Given the description of an element on the screen output the (x, y) to click on. 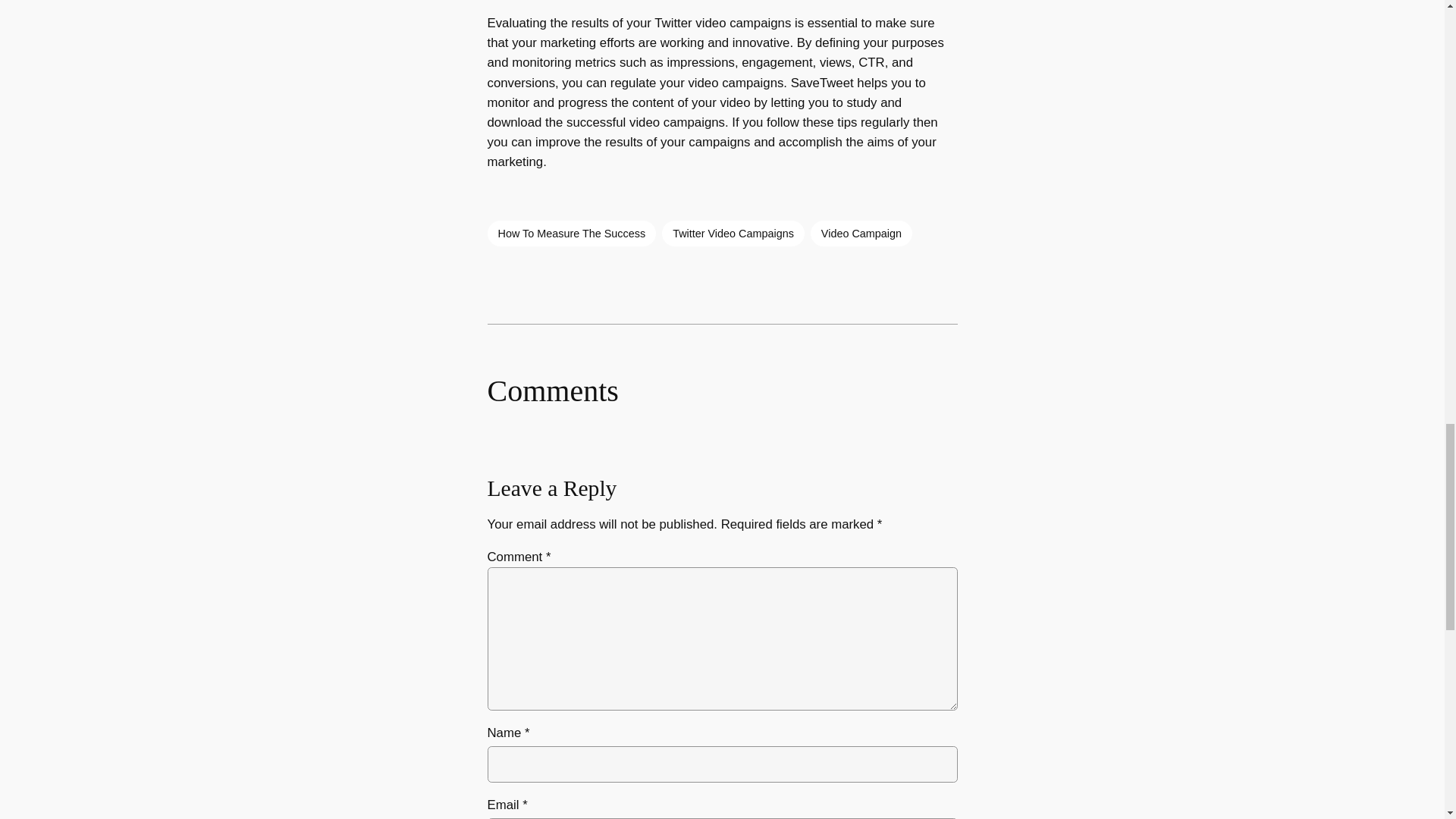
How To Measure The Success (571, 233)
Twitter Video Campaigns (733, 233)
Video Campaign (861, 233)
